Given the description of an element on the screen output the (x, y) to click on. 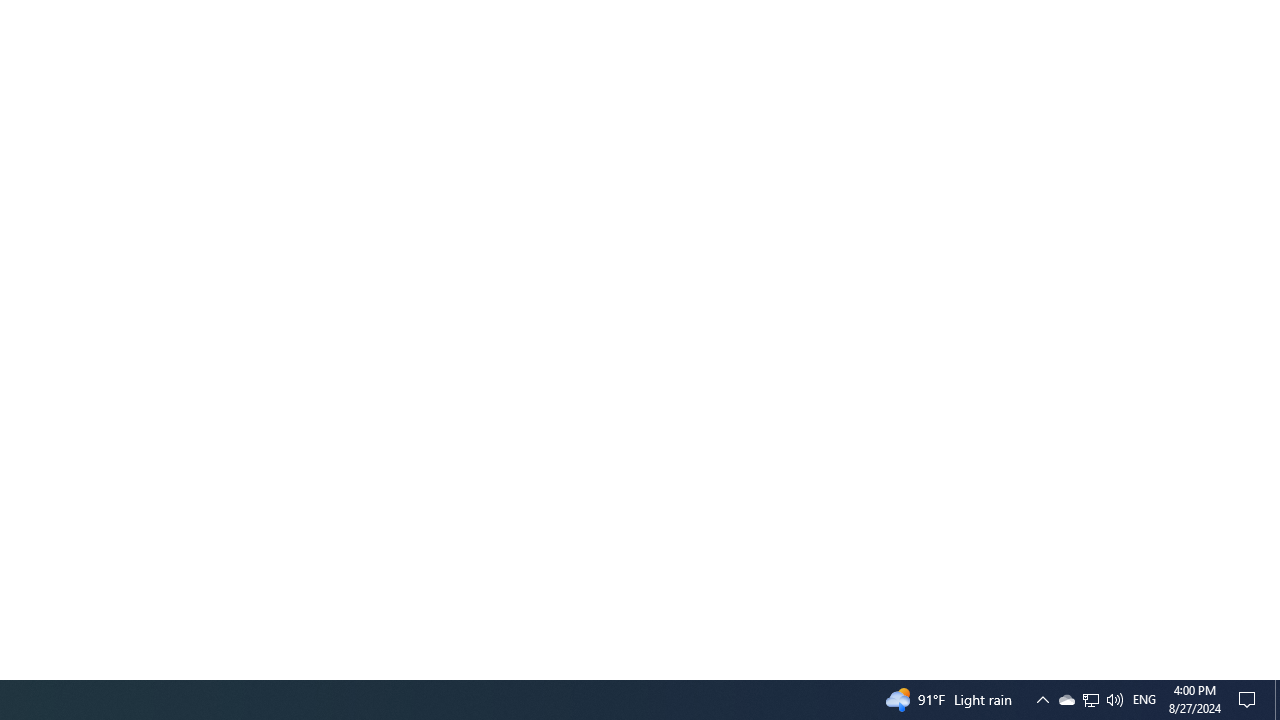
Q2790: 100% (1114, 699)
Tray Input Indicator - English (United States) (1144, 699)
User Promoted Notification Area (1090, 699)
Action Center, No new notifications (1250, 699)
Notification Chevron (1042, 699)
Show desktop (1066, 699)
